Given the description of an element on the screen output the (x, y) to click on. 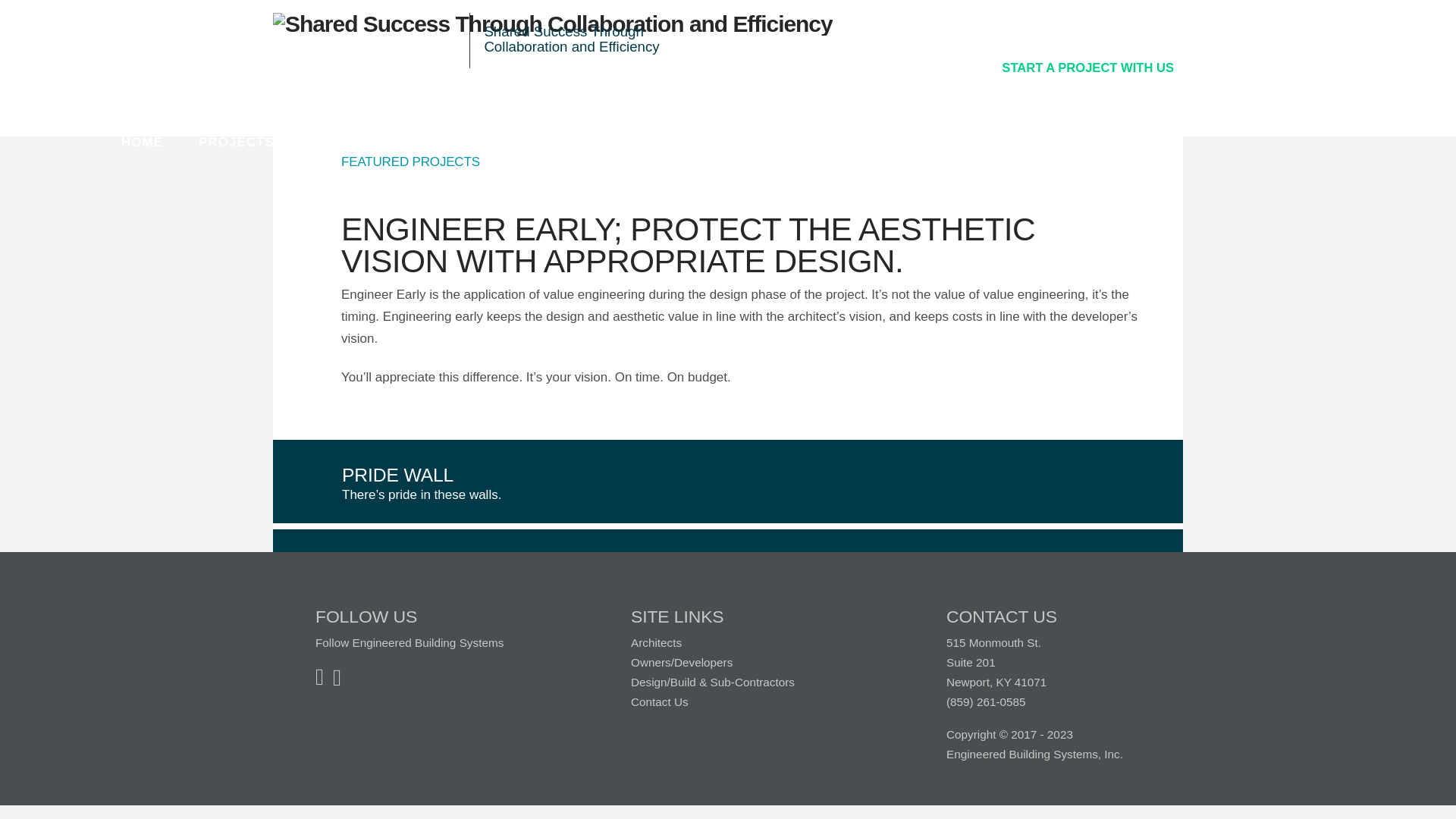
MARKETS (450, 142)
Shared Success Through Collaboration and Efficiency (552, 23)
CAREERS (664, 142)
Architects (655, 642)
PROJECTS (236, 142)
HOME (141, 142)
START A PROJECT WITH US (1087, 67)
SERVICES (345, 142)
ABOUT US (557, 142)
